Given the description of an element on the screen output the (x, y) to click on. 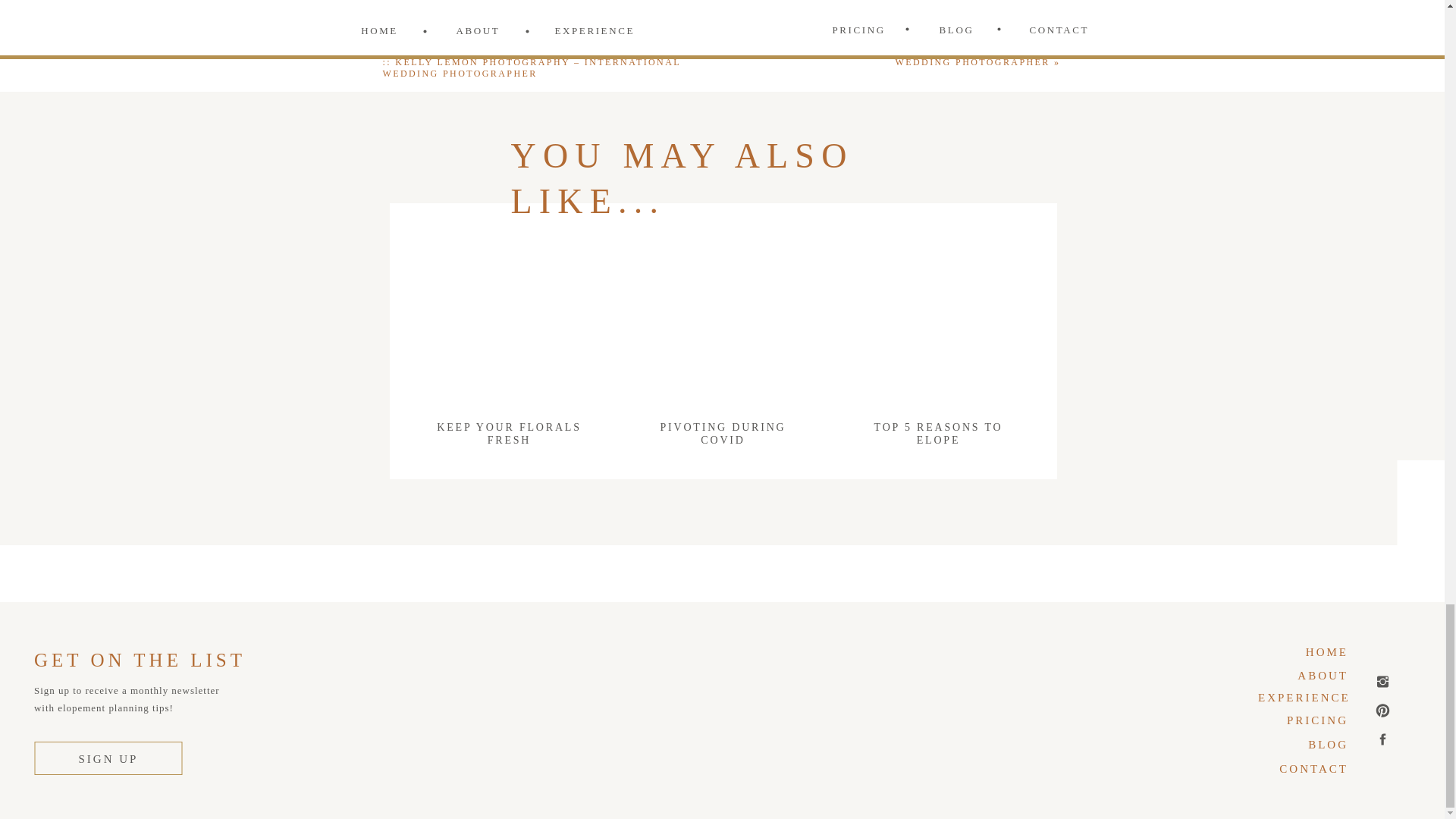
EXPERIENCE (1302, 696)
CONTACT (1308, 768)
TOP 5 REASONS TO ELOPE (937, 443)
KEEP YOUR FLORALS FRESH (509, 438)
PRICING (1308, 719)
PIVOTING DURING COVID (722, 443)
